Given the description of an element on the screen output the (x, y) to click on. 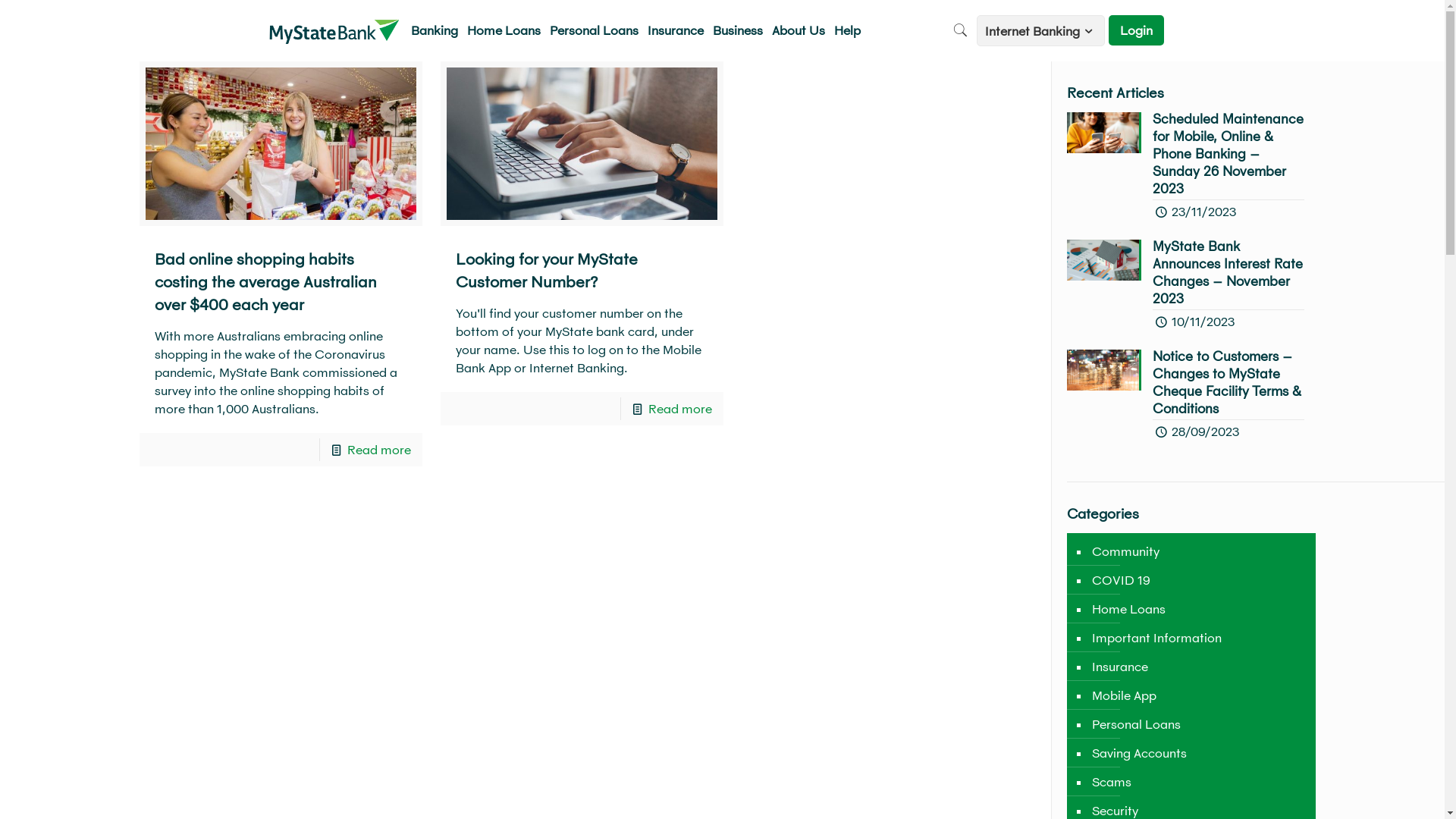
Insurance Element type: text (1118, 666)
Saving Accounts Element type: text (1137, 752)
Help Element type: text (847, 30)
Home Loans Element type: text (503, 30)
Read more Element type: text (680, 408)
About Us Element type: text (327, 108)
Home Loans Element type: text (1127, 608)
Internet Banking Element type: text (1040, 30)
Personal Loans Element type: text (594, 30)
Looking for your MyState Customer Number? Element type: text (546, 269)
Important Information Element type: text (1155, 637)
Mobile App Element type: text (1122, 694)
Home Element type: text (282, 108)
Business Element type: text (737, 30)
MyState Bank Element type: hover (334, 30)
Insurance Element type: text (675, 30)
Media Centre Element type: text (387, 108)
2020 Element type: text (439, 108)
Personal Loans Element type: text (1134, 723)
Banking Element type: text (434, 30)
Community Element type: text (1124, 550)
Read more Element type: text (379, 449)
Scams Element type: text (1110, 781)
About Us Element type: text (798, 30)
COVID 19 Element type: text (1119, 579)
Login Element type: text (1136, 30)
